Given the description of an element on the screen output the (x, y) to click on. 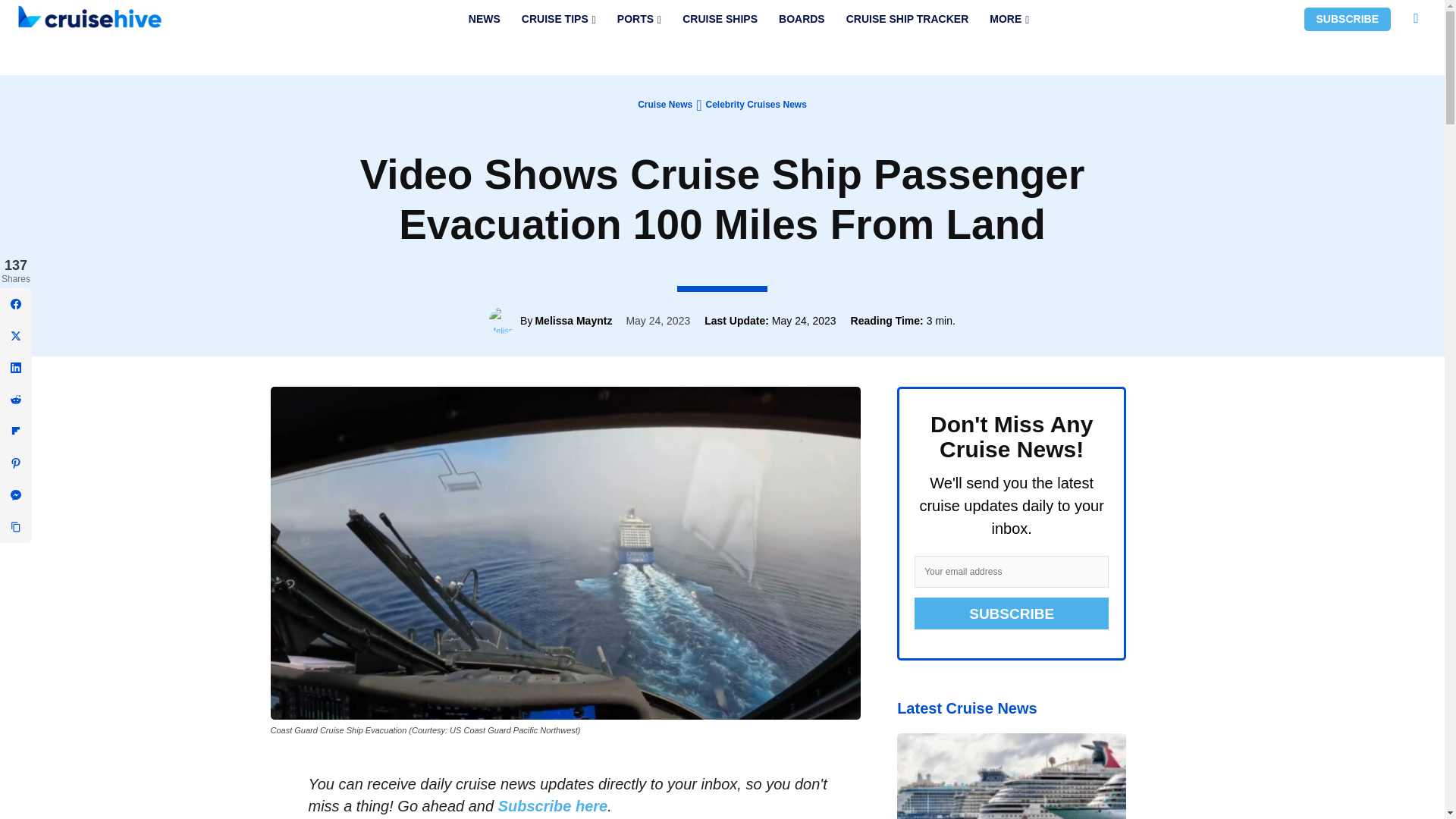
CRUISE TIPS (559, 19)
NEWS (484, 19)
Melissa Mayntz (504, 320)
SUBSCRIBE (1347, 19)
View all posts in Cruise News (665, 104)
View all posts in Celebrity Cruises News (755, 104)
PORTS (639, 19)
